Given the description of an element on the screen output the (x, y) to click on. 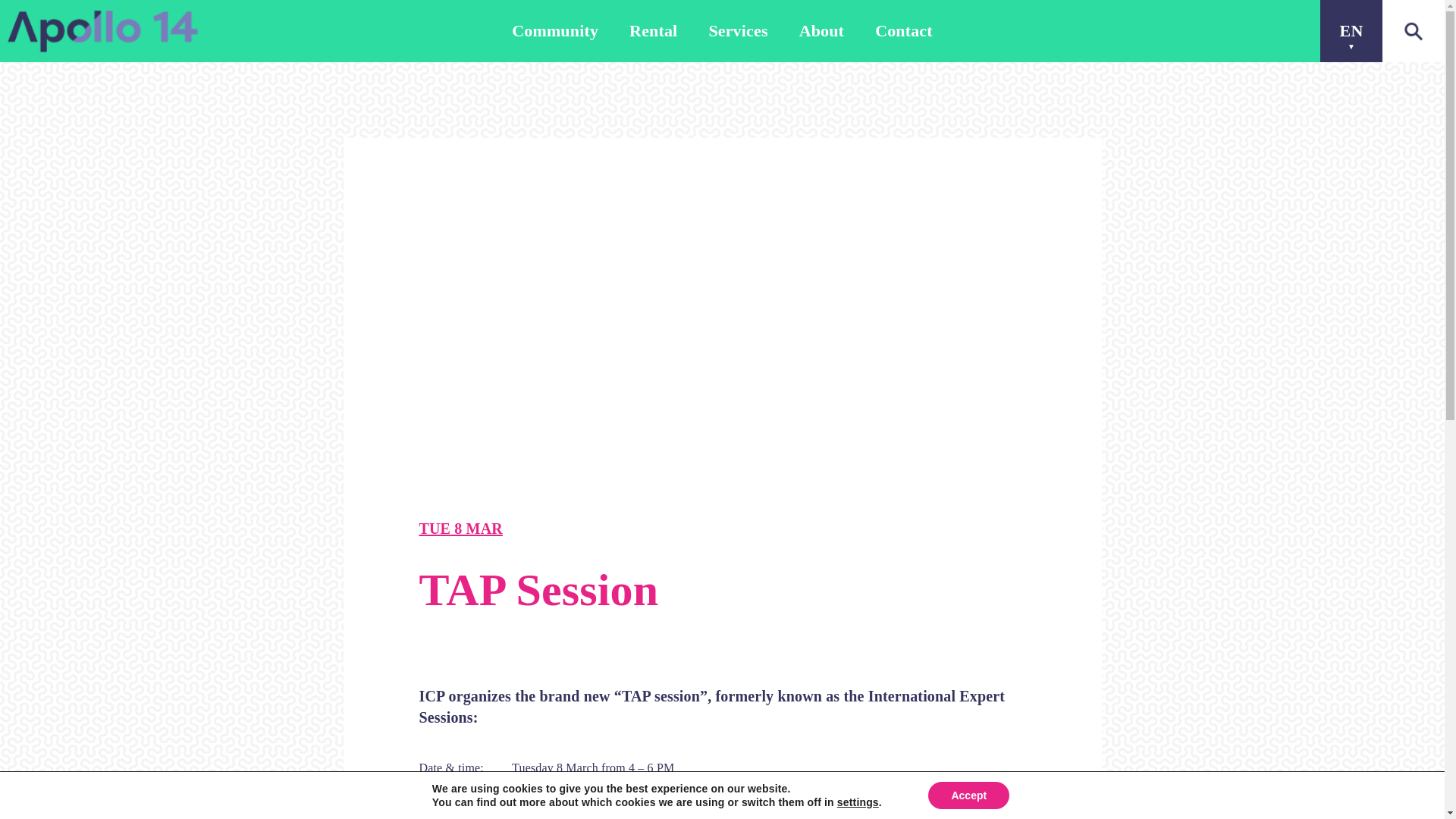
EN (1350, 31)
Contact (904, 31)
settings (858, 802)
Community (555, 31)
Accept (968, 795)
Services (737, 31)
EN (1350, 31)
Search (375, 455)
